Given the description of an element on the screen output the (x, y) to click on. 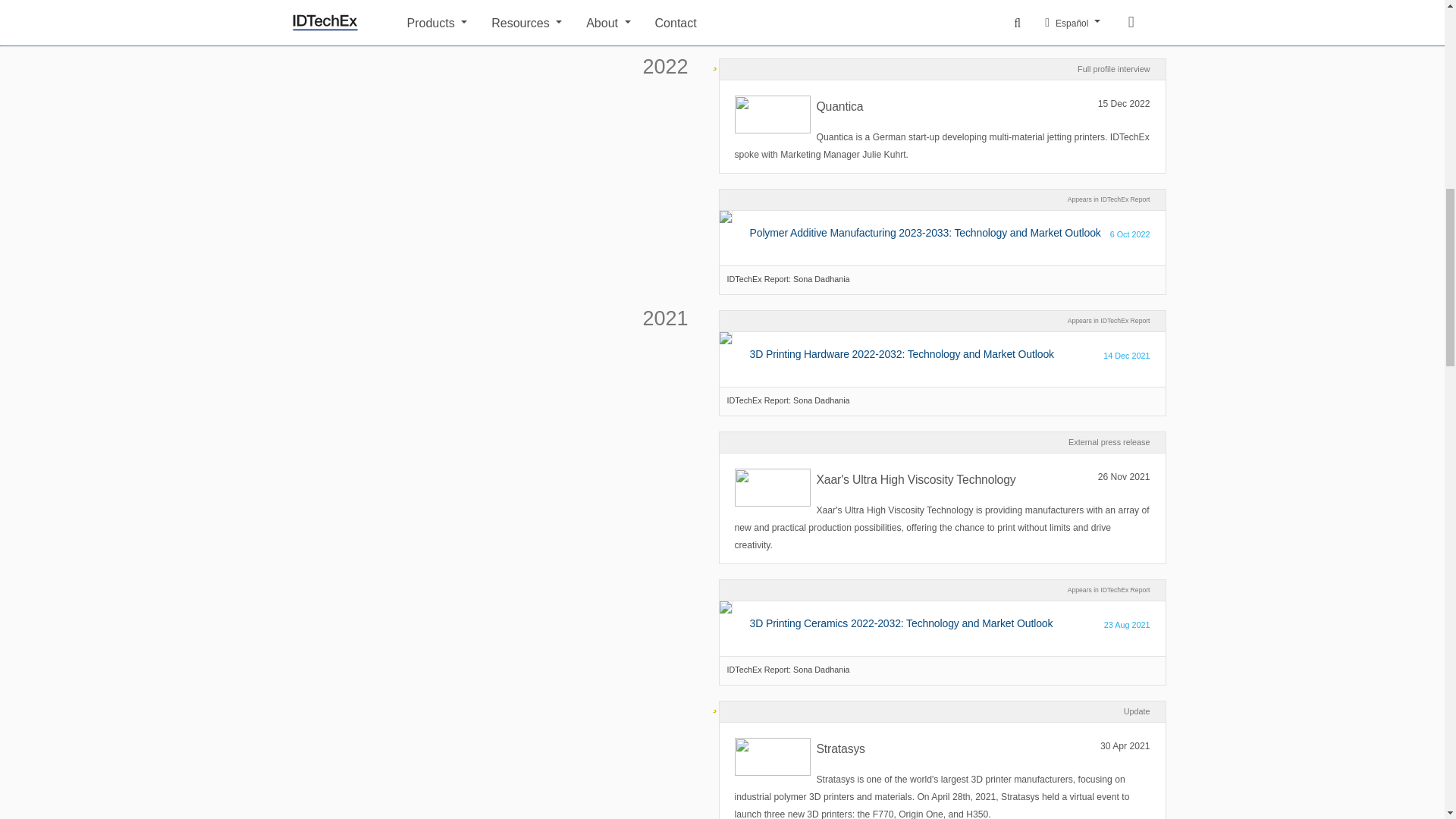
IDTechEx Research Subscriber Only (714, 702)
26 Nov 2021 (1123, 477)
IDTechEx Research Subscriber Only (714, 60)
23 Aug 2021 (1126, 624)
30 Apr 2021 (1125, 746)
14 Dec 2021 (1126, 355)
6 Oct 2022 (1129, 234)
15 Dec 2022 (1123, 104)
